Given the description of an element on the screen output the (x, y) to click on. 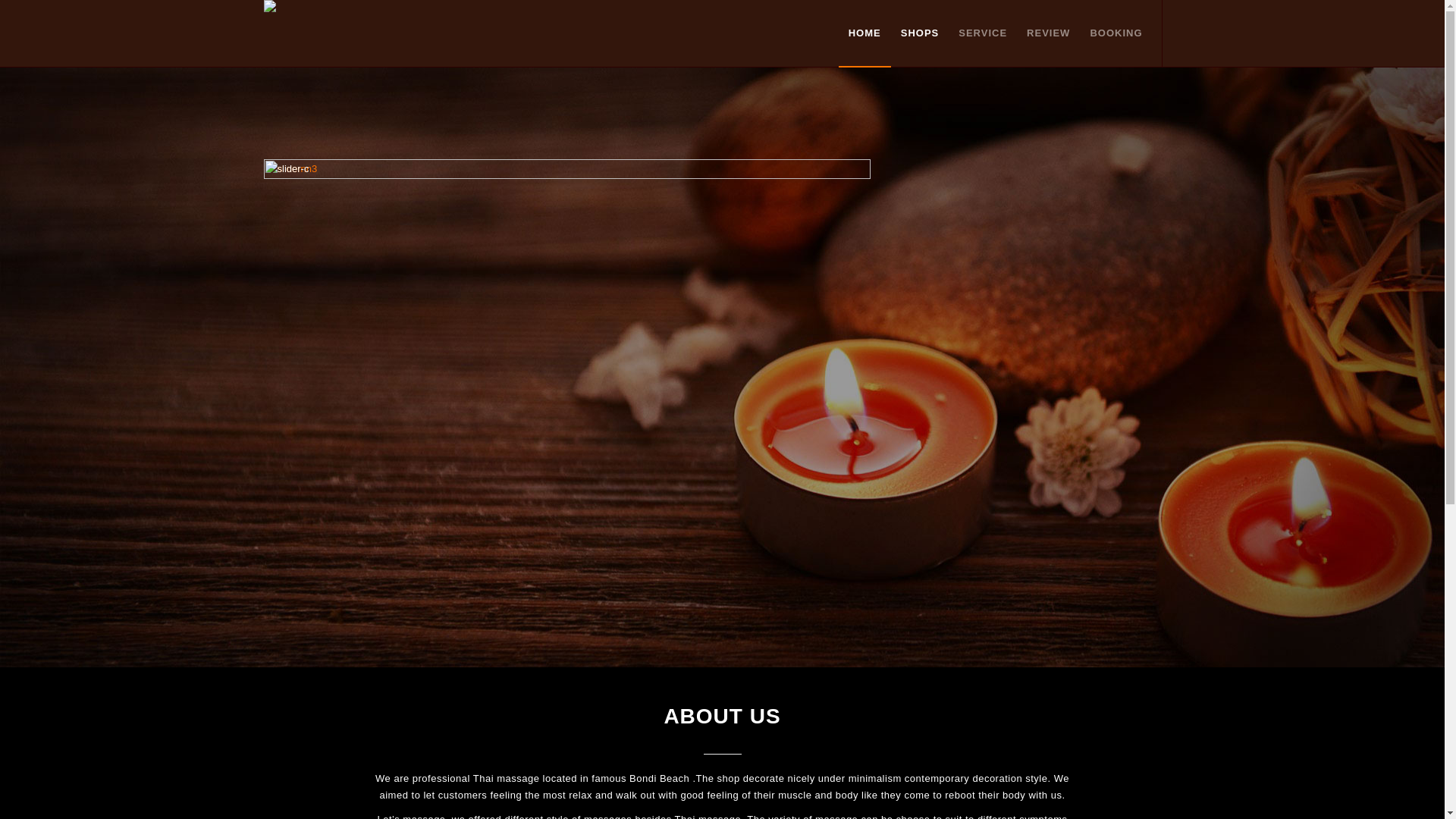
BOOKING Element type: text (1110, 33)
SERVICE Element type: text (982, 33)
SHOPS Element type: text (920, 33)
slidernn3 Element type: hover (566, 360)
REVIEW Element type: text (1047, 33)
HOME Element type: text (864, 33)
